Given the description of an element on the screen output the (x, y) to click on. 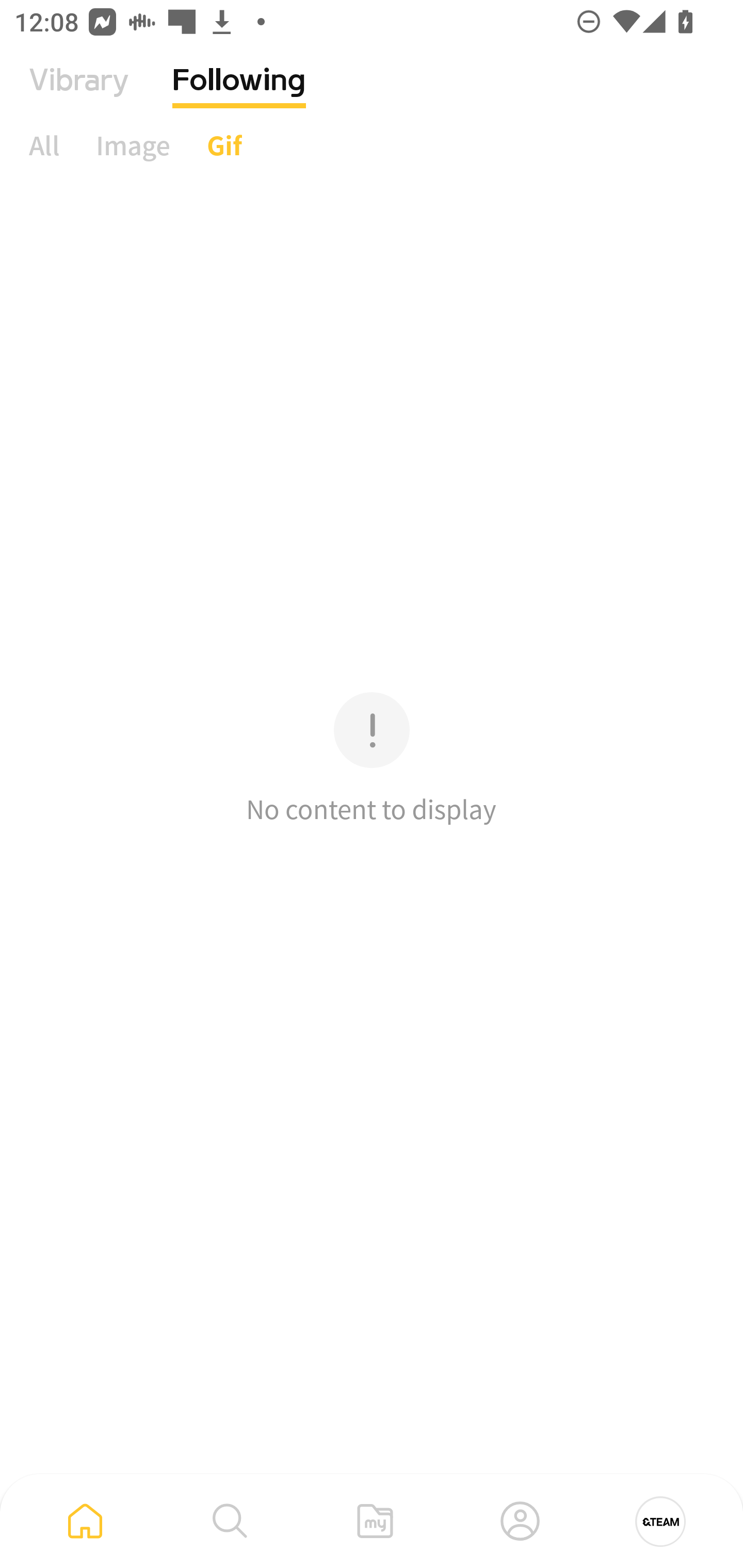
Vibrary (78, 95)
Following (239, 95)
All (44, 145)
Image (132, 145)
Gif (224, 145)
